Given the description of an element on the screen output the (x, y) to click on. 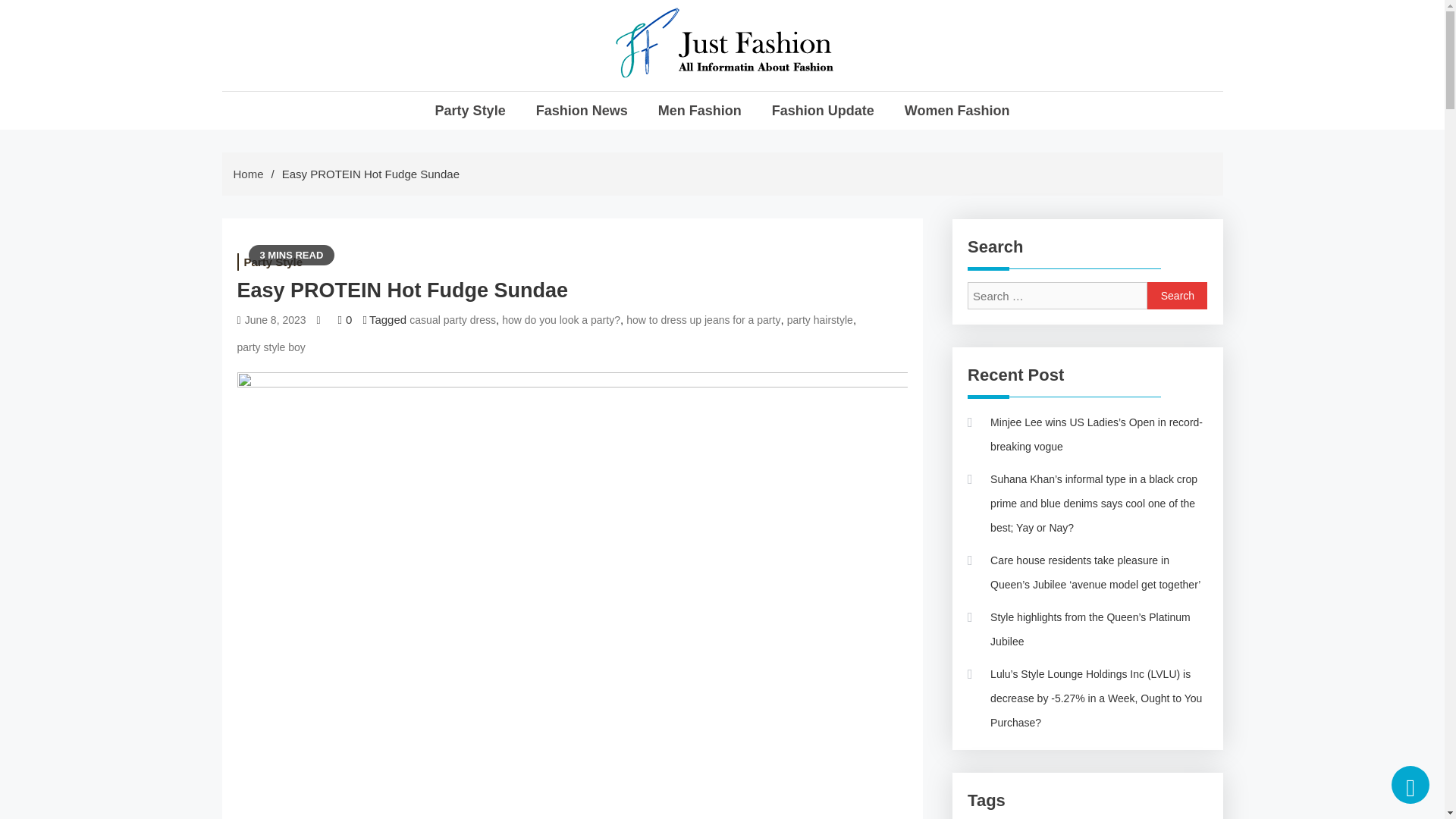
Women Fashion (957, 110)
party style boy (269, 346)
casual party dress (452, 319)
Search (1177, 295)
Party Style (271, 262)
Fashion Update (823, 110)
Party Style (470, 110)
Fashion News (581, 110)
how do you look a party? (561, 319)
June 8, 2023 (274, 319)
how to dress up jeans for a party (703, 319)
JFashion (668, 102)
Search (1177, 295)
Men Fashion (699, 110)
party hairstyle (820, 319)
